Given the description of an element on the screen output the (x, y) to click on. 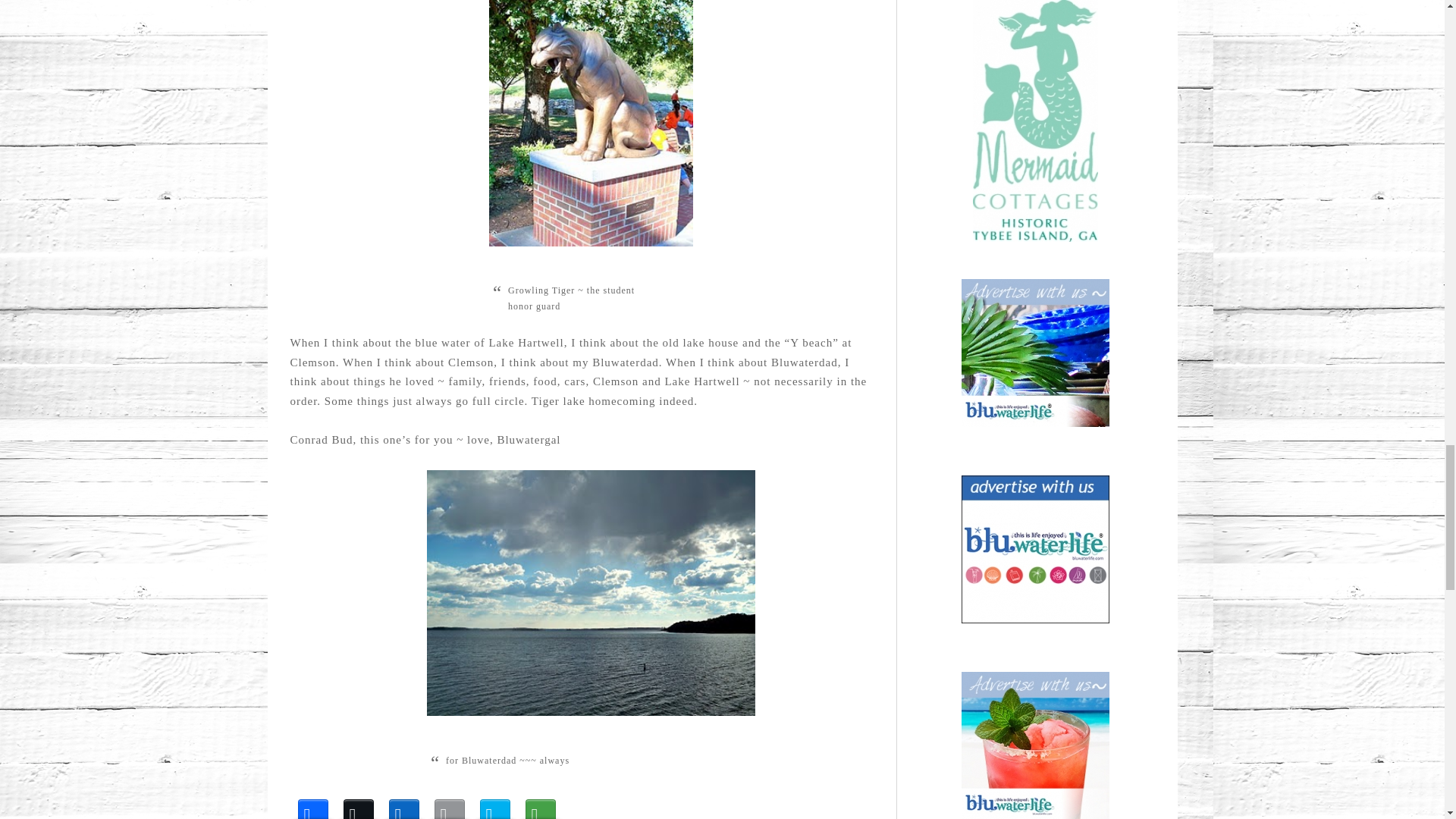
More Options (539, 803)
LinkedIn (403, 803)
Facebook (311, 803)
Email This (448, 803)
PrintFriendly (493, 803)
